Given the description of an element on the screen output the (x, y) to click on. 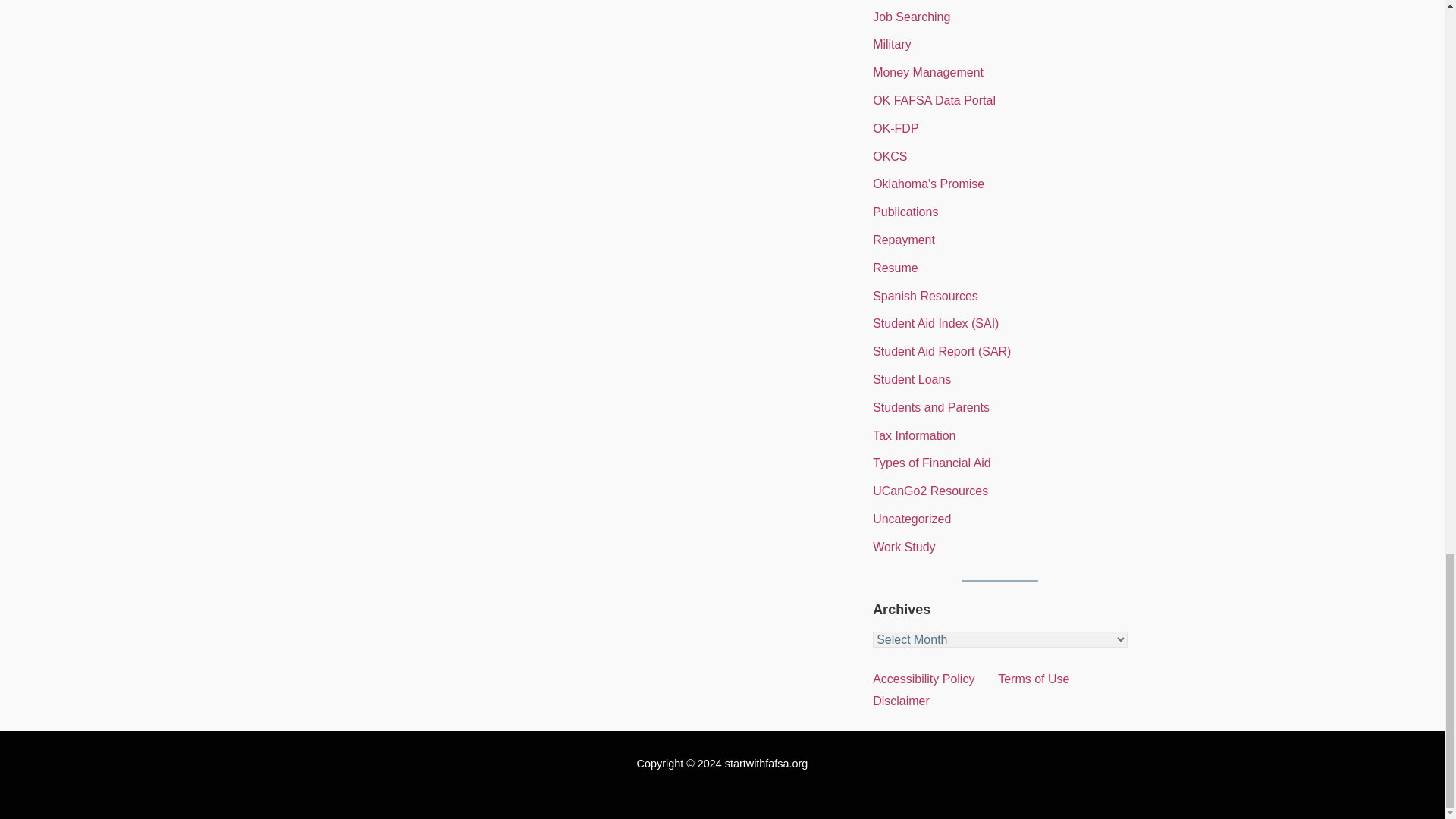
Terms of Use (1032, 678)
Disclaimer (901, 700)
Accessibility Policy (923, 678)
